Given the description of an element on the screen output the (x, y) to click on. 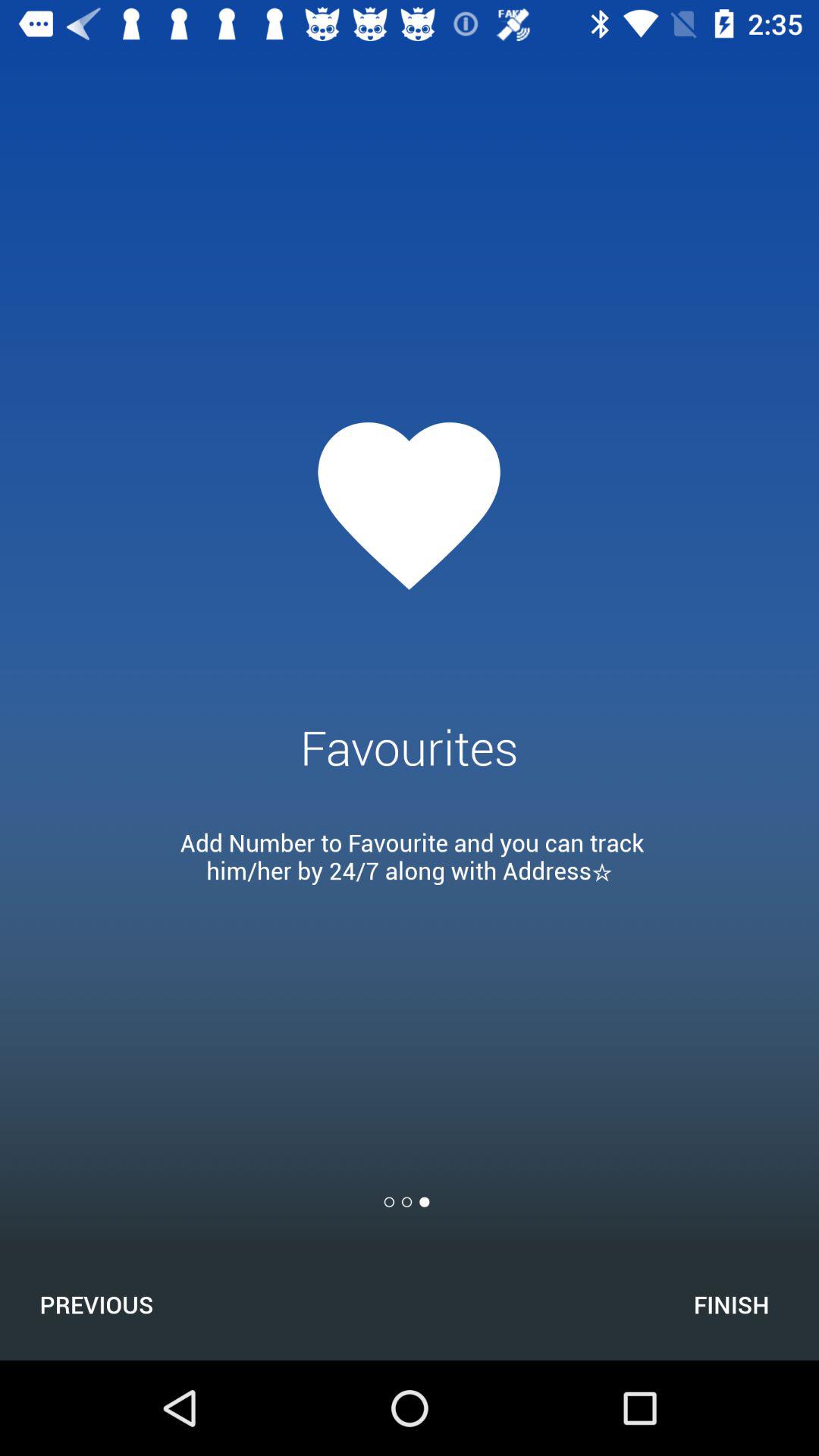
open the icon at the bottom left corner (96, 1304)
